Given the description of an element on the screen output the (x, y) to click on. 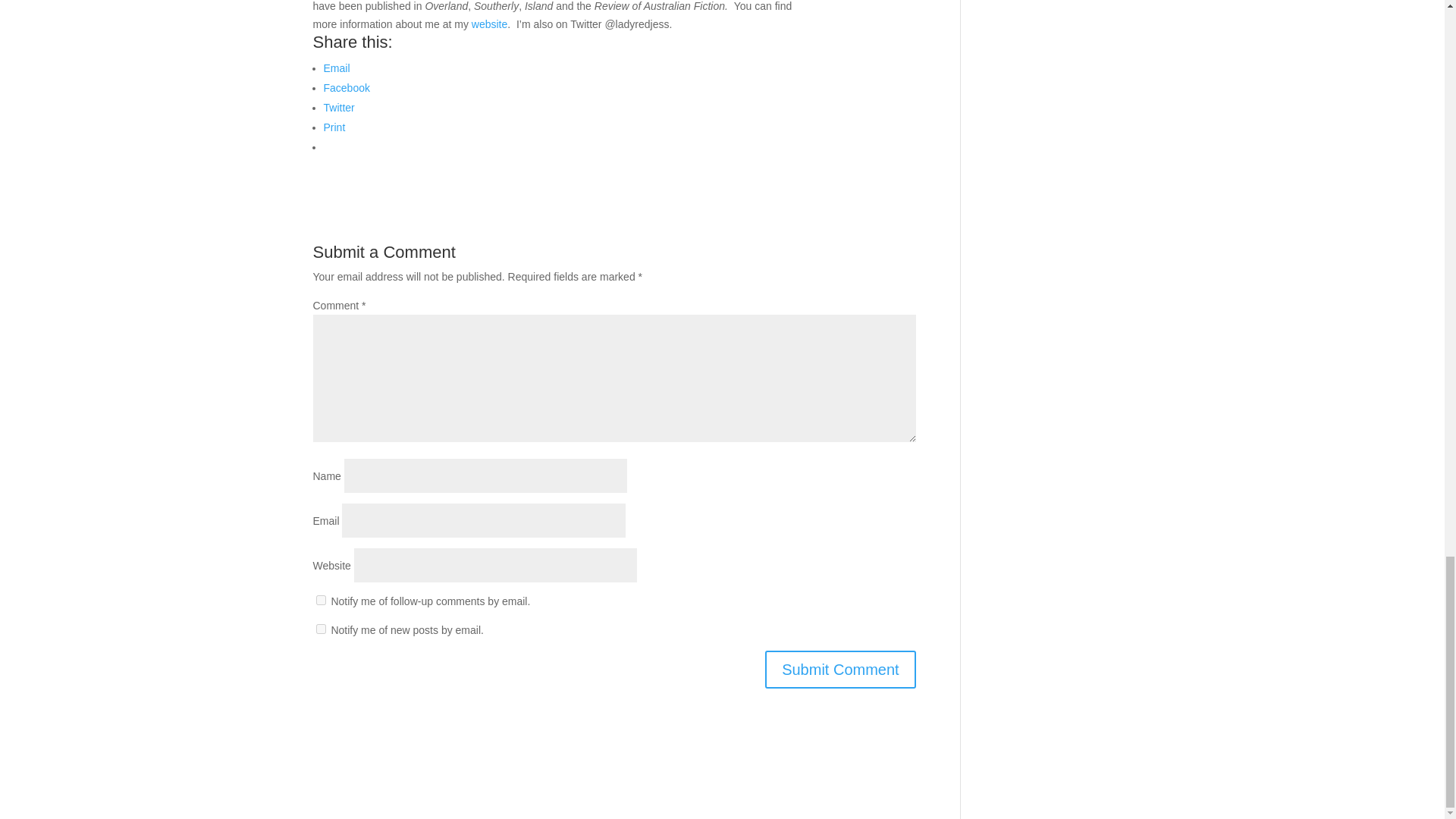
Click to print (334, 127)
Click to share on Twitter (338, 107)
Submit Comment (840, 669)
Click to email a link to a friend (336, 68)
Click to share on Facebook (346, 87)
subscribe (319, 628)
subscribe (319, 600)
